Given the description of an element on the screen output the (x, y) to click on. 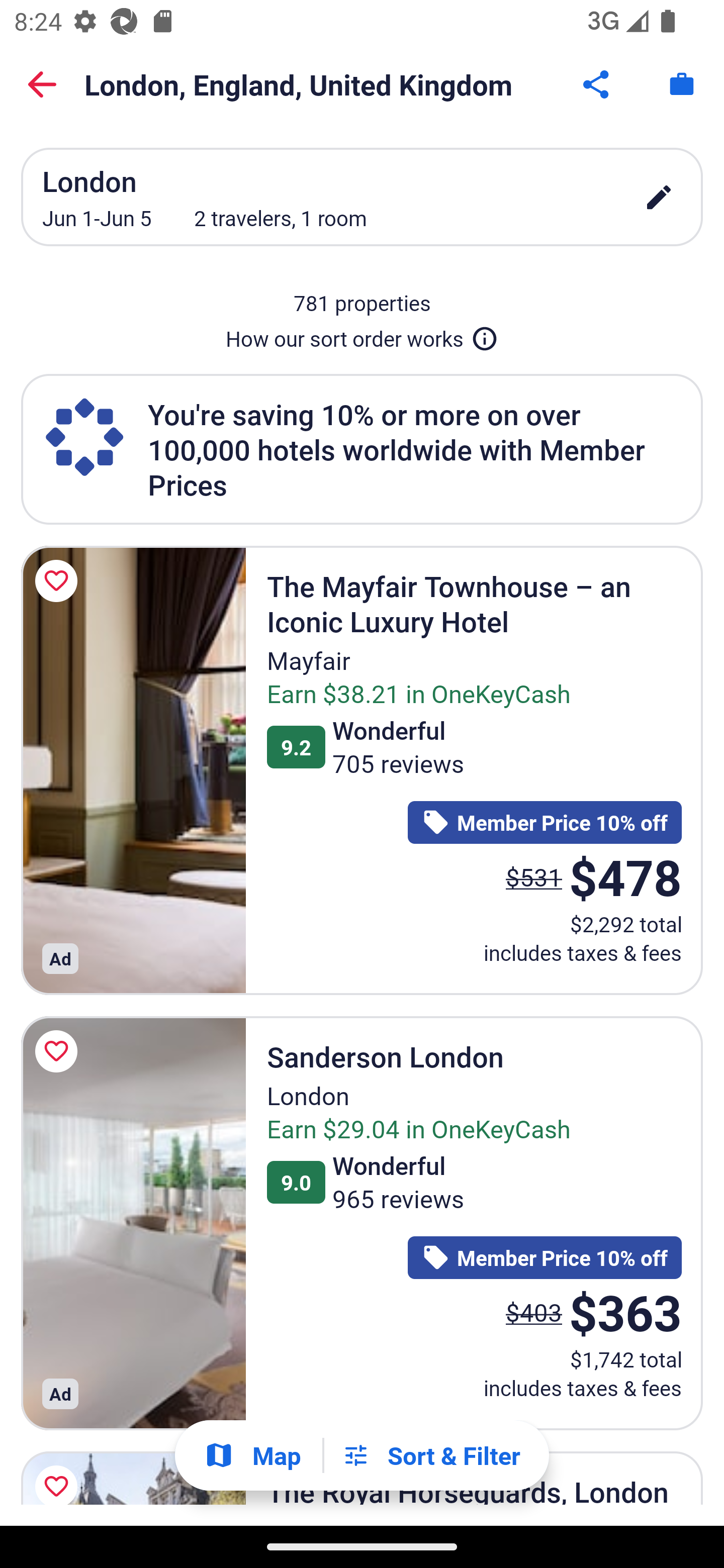
Back (42, 84)
Share Button (597, 84)
Trips. Button (681, 84)
London Jun 1-Jun 5 2 travelers, 1 room edit (361, 196)
How our sort order works (361, 334)
The Mayfair Townhouse – an Iconic Luxury Hotel (133, 770)
$531 The price was $531 (533, 876)
Save Sanderson London to a trip (59, 1050)
Sanderson London (133, 1223)
$403 The price was $403 (533, 1312)
Filters Sort & Filter Filters Button (430, 1455)
Show map Map Show map Button (252, 1455)
Save The Royal Horseguards, London to a trip (59, 1474)
